Given the description of an element on the screen output the (x, y) to click on. 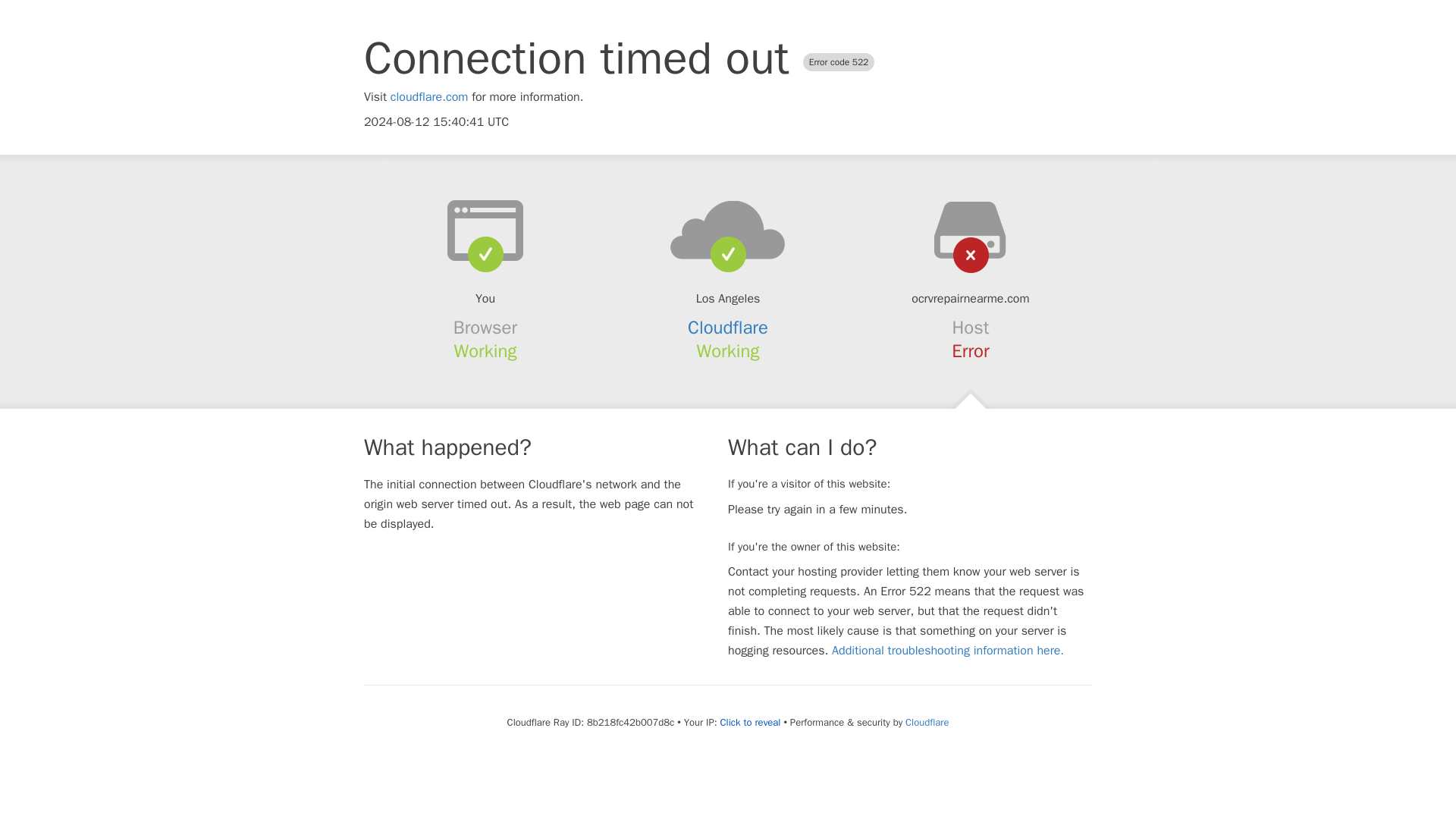
Cloudflare (727, 327)
Additional troubleshooting information here. (947, 650)
Cloudflare (927, 721)
Click to reveal (750, 722)
cloudflare.com (429, 96)
